Given the description of an element on the screen output the (x, y) to click on. 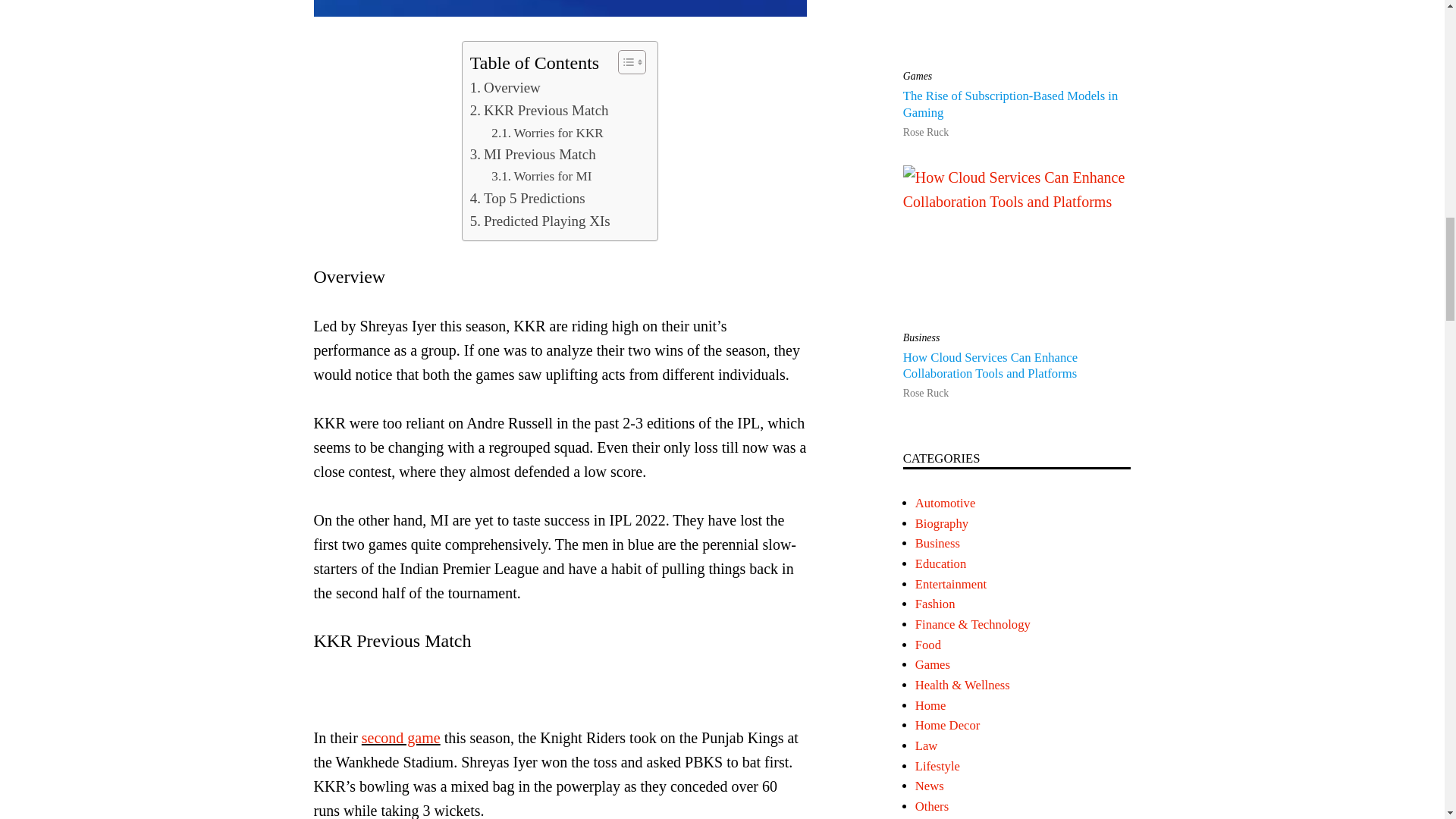
KKR Previous Match (539, 110)
Top 5 Predictions (527, 198)
Worries for KKR (547, 132)
Predicted Playing XIs (540, 220)
MI Previous Match (532, 154)
Overview (505, 87)
Worries for MI (541, 176)
